Given the description of an element on the screen output the (x, y) to click on. 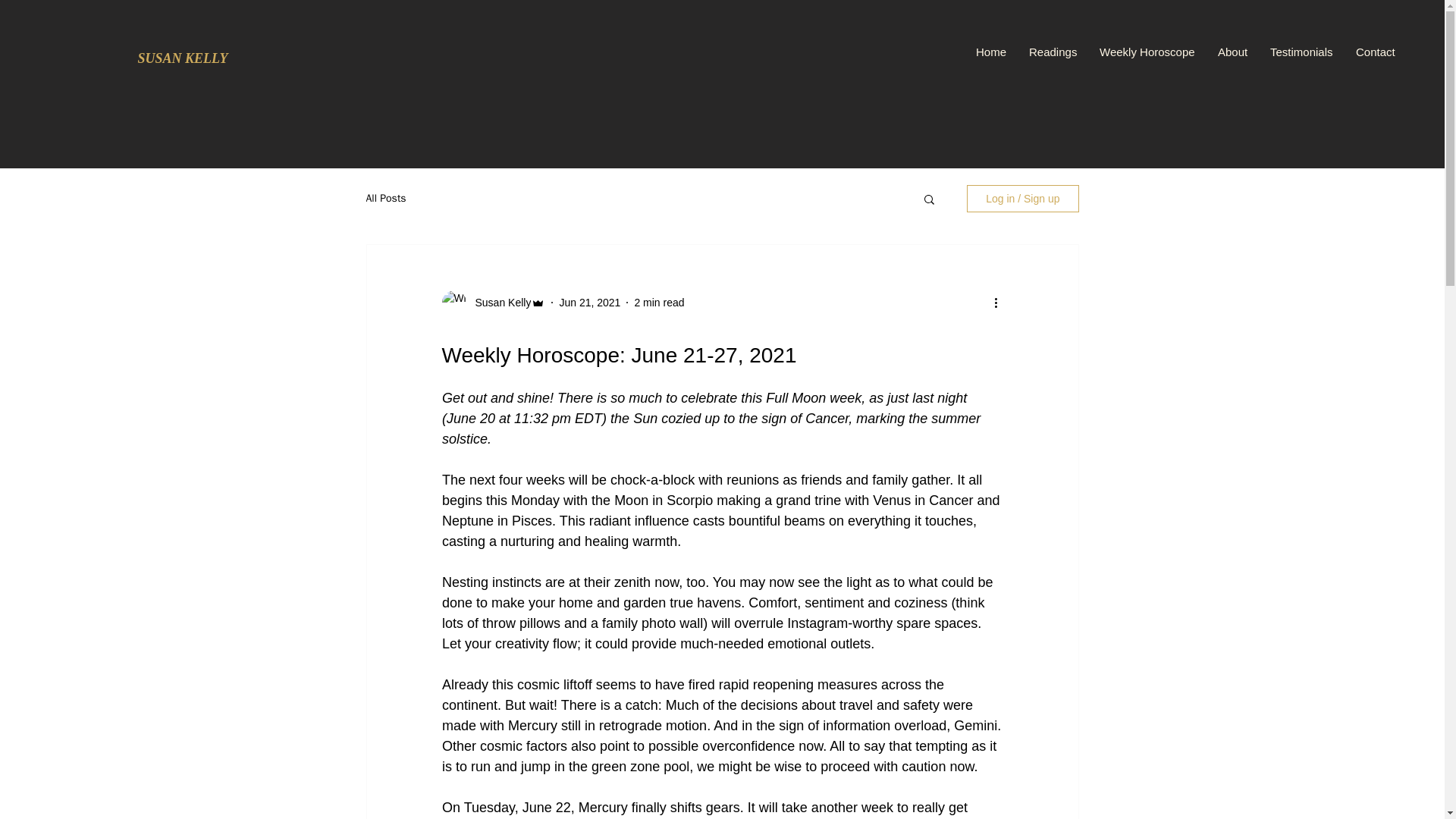
SUSAN KELLY (182, 58)
Home (990, 52)
Readings (1052, 52)
2 min read (658, 301)
Susan Kelly (498, 302)
Weekly Horoscope (1147, 52)
Contact (1374, 52)
Jun 21, 2021 (589, 301)
Testimonials (1301, 52)
All Posts (385, 198)
